Given the description of an element on the screen output the (x, y) to click on. 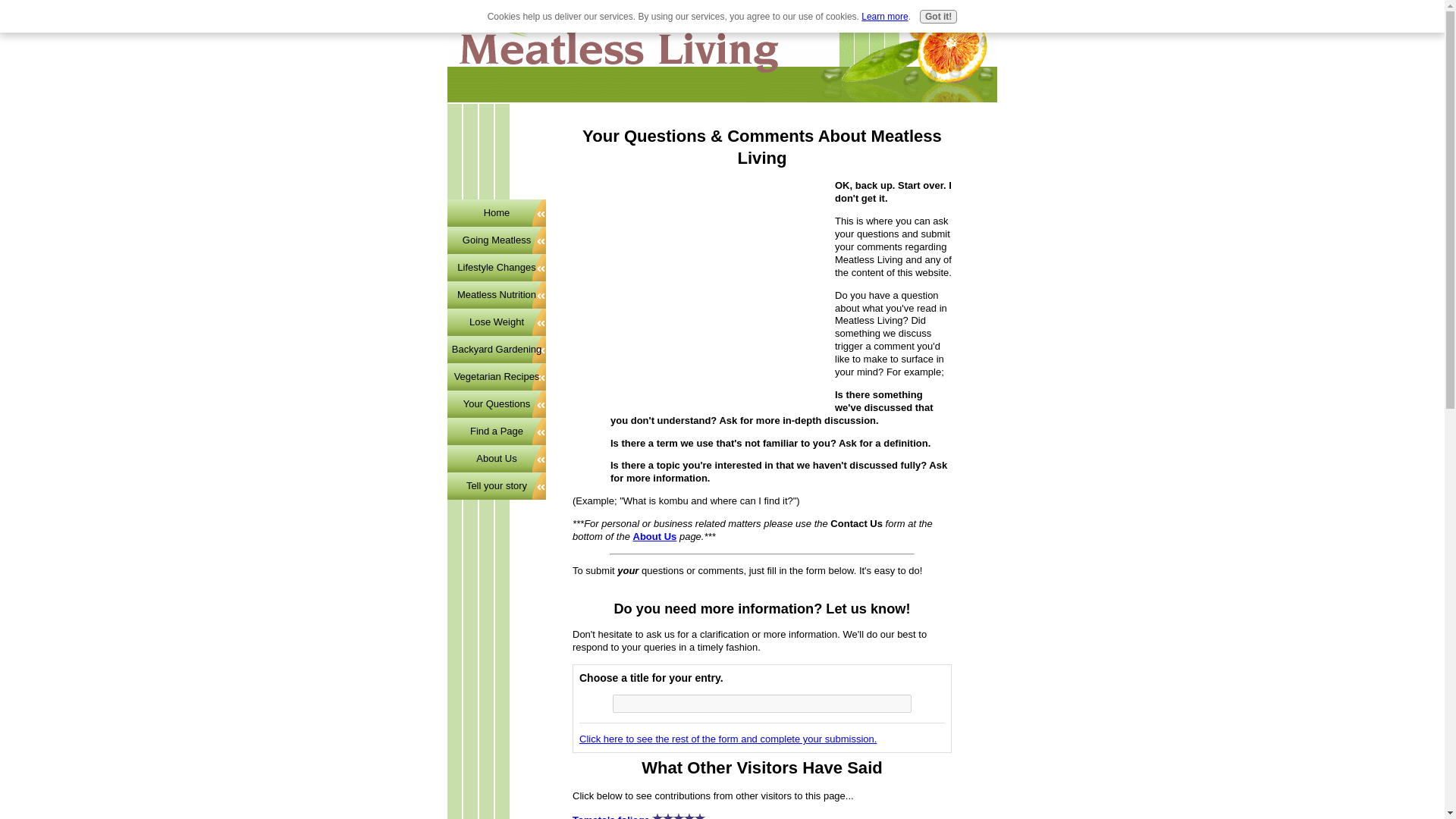
Backyard Gardening (496, 349)
Tell your story (496, 485)
Advertisement (495, 152)
Going Meatless (496, 239)
About Us (655, 536)
Your Questions (496, 403)
Learn more (884, 16)
Lifestyle Changes (496, 267)
Tomato's foliage (610, 816)
About Us (655, 536)
About Us (496, 458)
Advertisement (699, 285)
Lose Weight (496, 321)
Meatless Nutrition (496, 294)
